Given the description of an element on the screen output the (x, y) to click on. 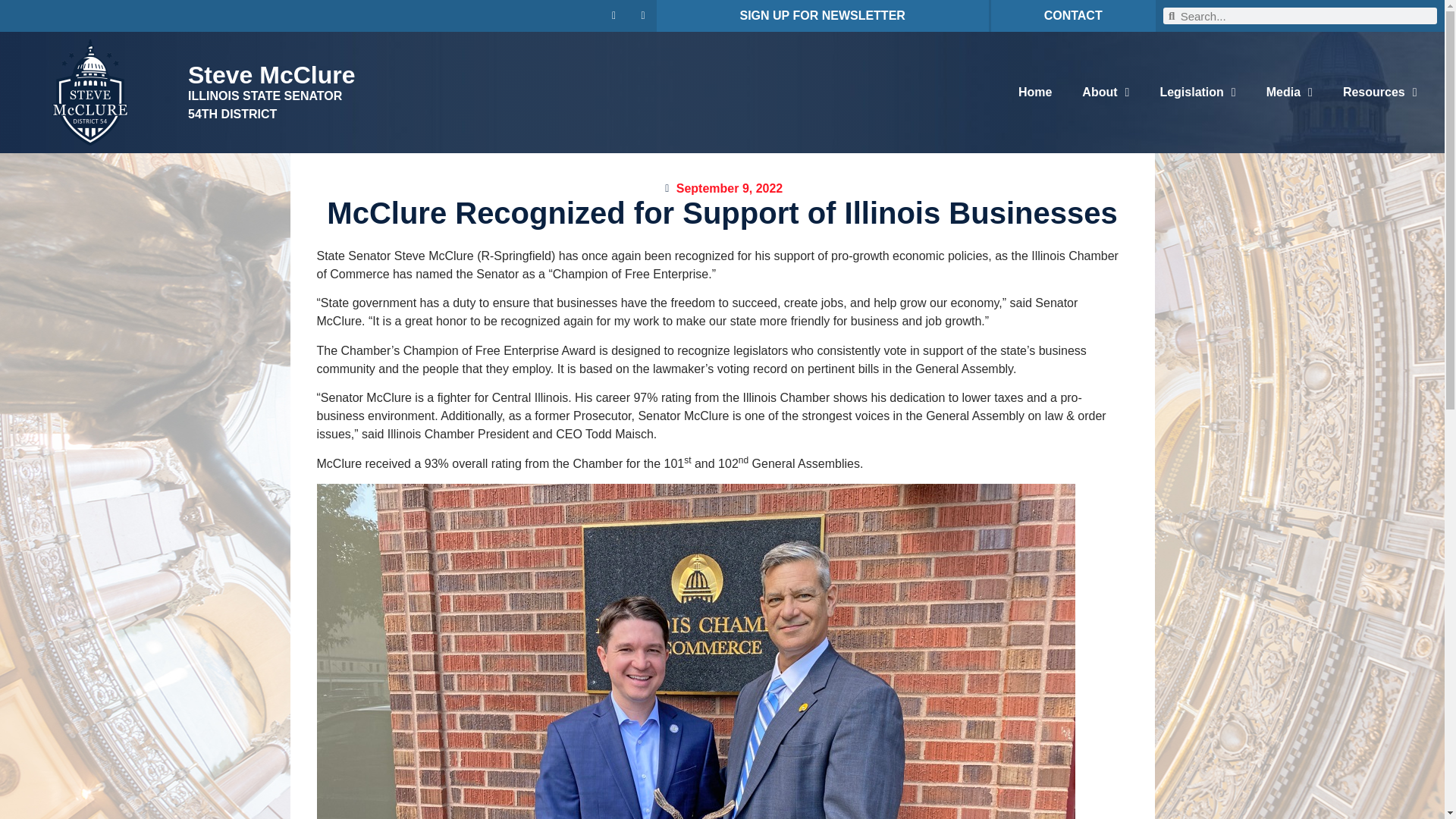
CONTACT (1072, 15)
Legislation (1197, 92)
Media (1288, 92)
SIGN UP FOR NEWSLETTER (821, 15)
About (1105, 92)
Home (1035, 92)
Resources (1379, 92)
McClure-Web-Logo-copy (90, 92)
Steve McClure (271, 74)
